Given the description of an element on the screen output the (x, y) to click on. 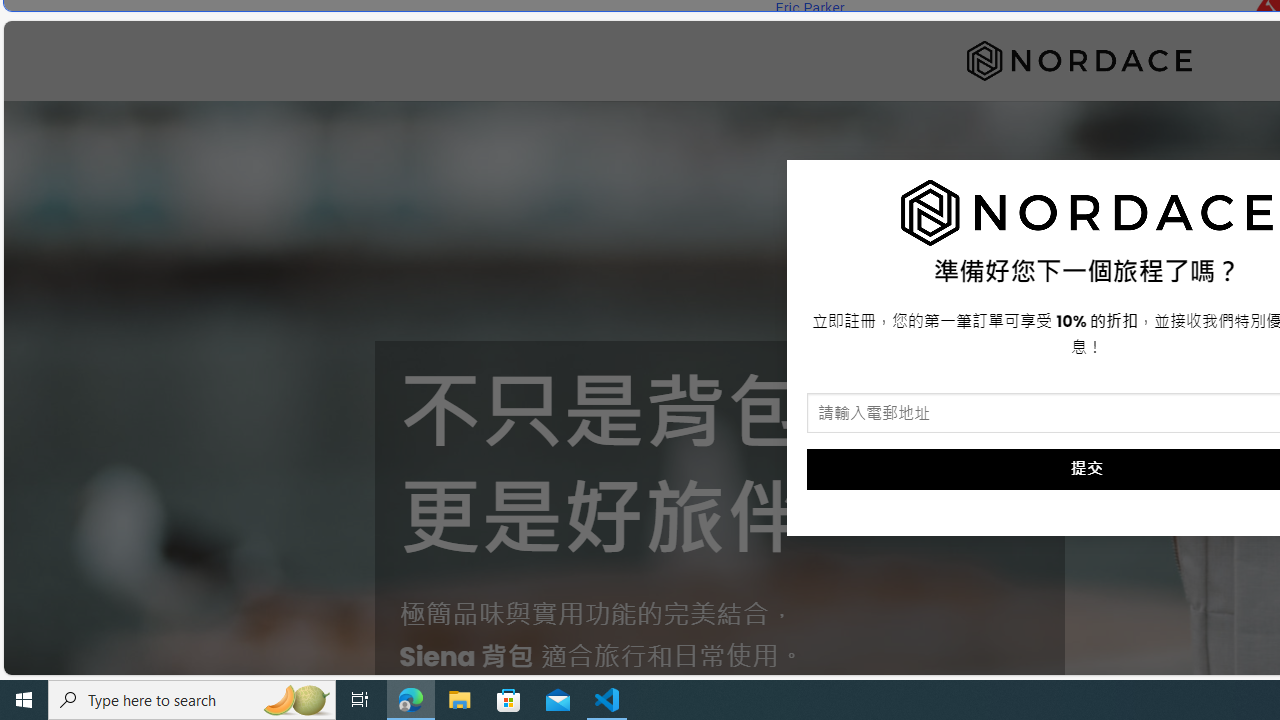
Eric Parker (809, 8)
